Given the description of an element on the screen output the (x, y) to click on. 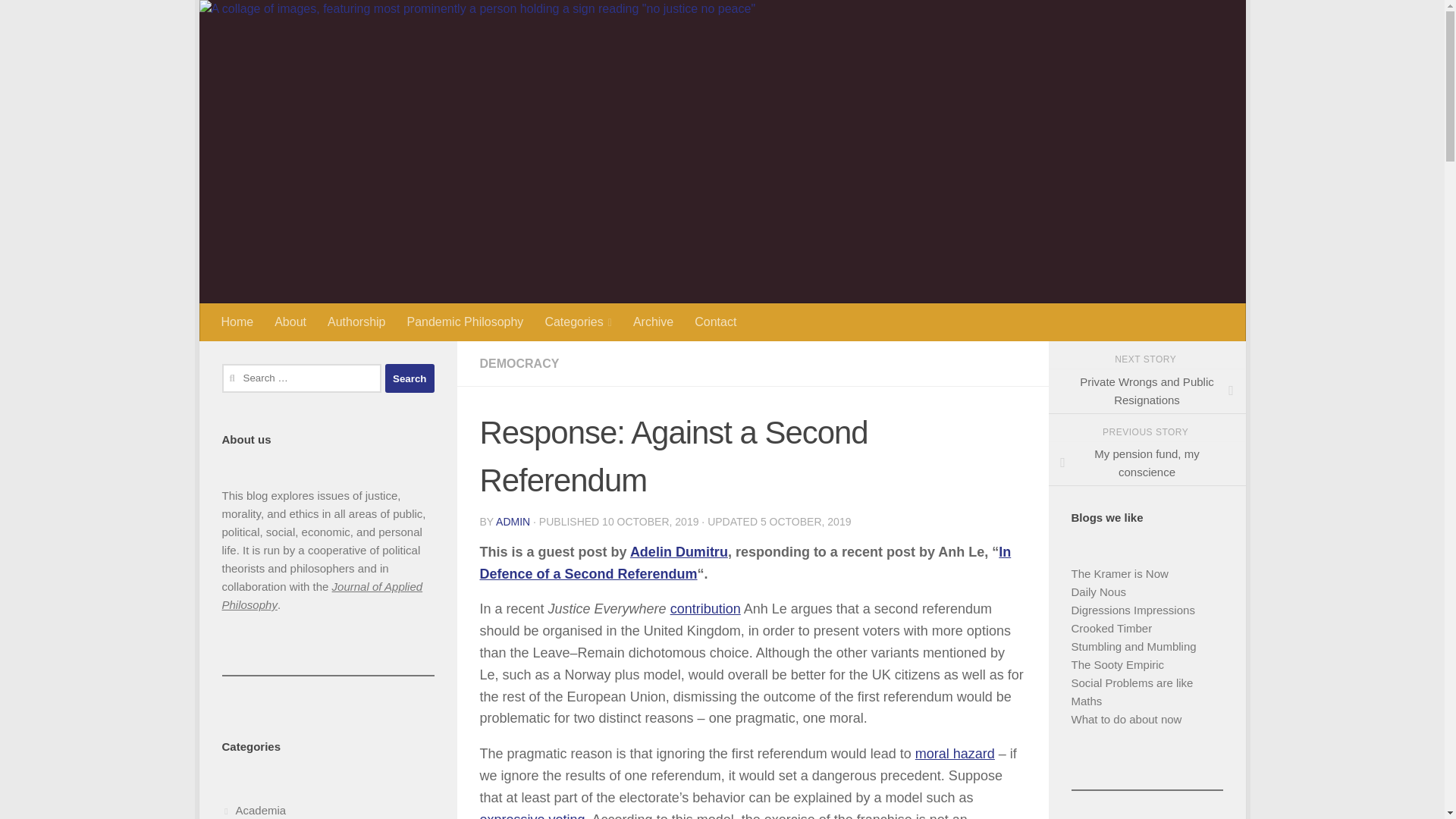
Home (237, 322)
Posts by admin (512, 521)
Skip to content (263, 20)
Pandemic Philosophy (465, 322)
Search (409, 378)
Categories (578, 322)
About (290, 322)
Authorship (356, 322)
Search (409, 378)
